Given the description of an element on the screen output the (x, y) to click on. 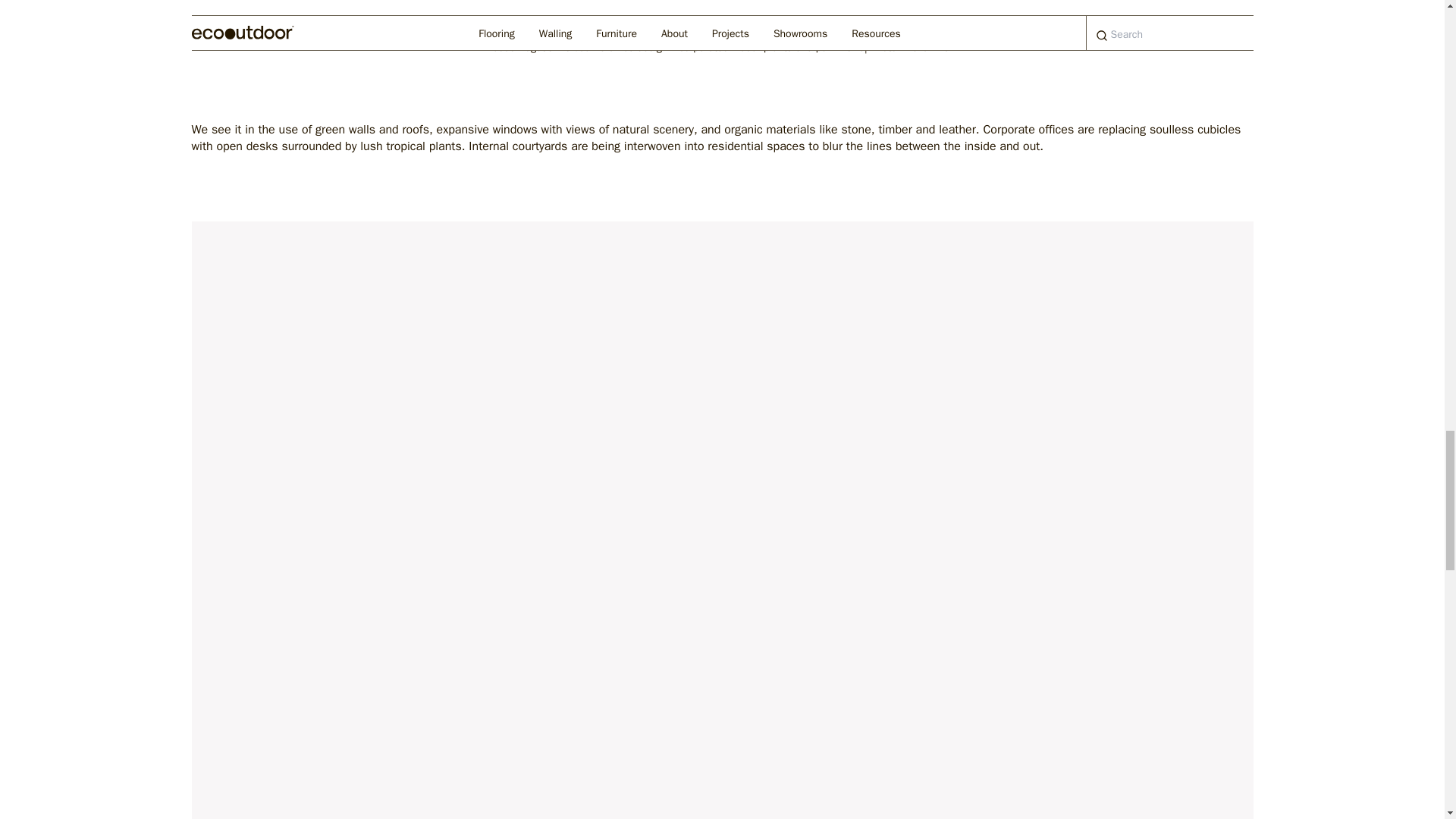
Biophillic Architecture 01 (721, 14)
